Given the description of an element on the screen output the (x, y) to click on. 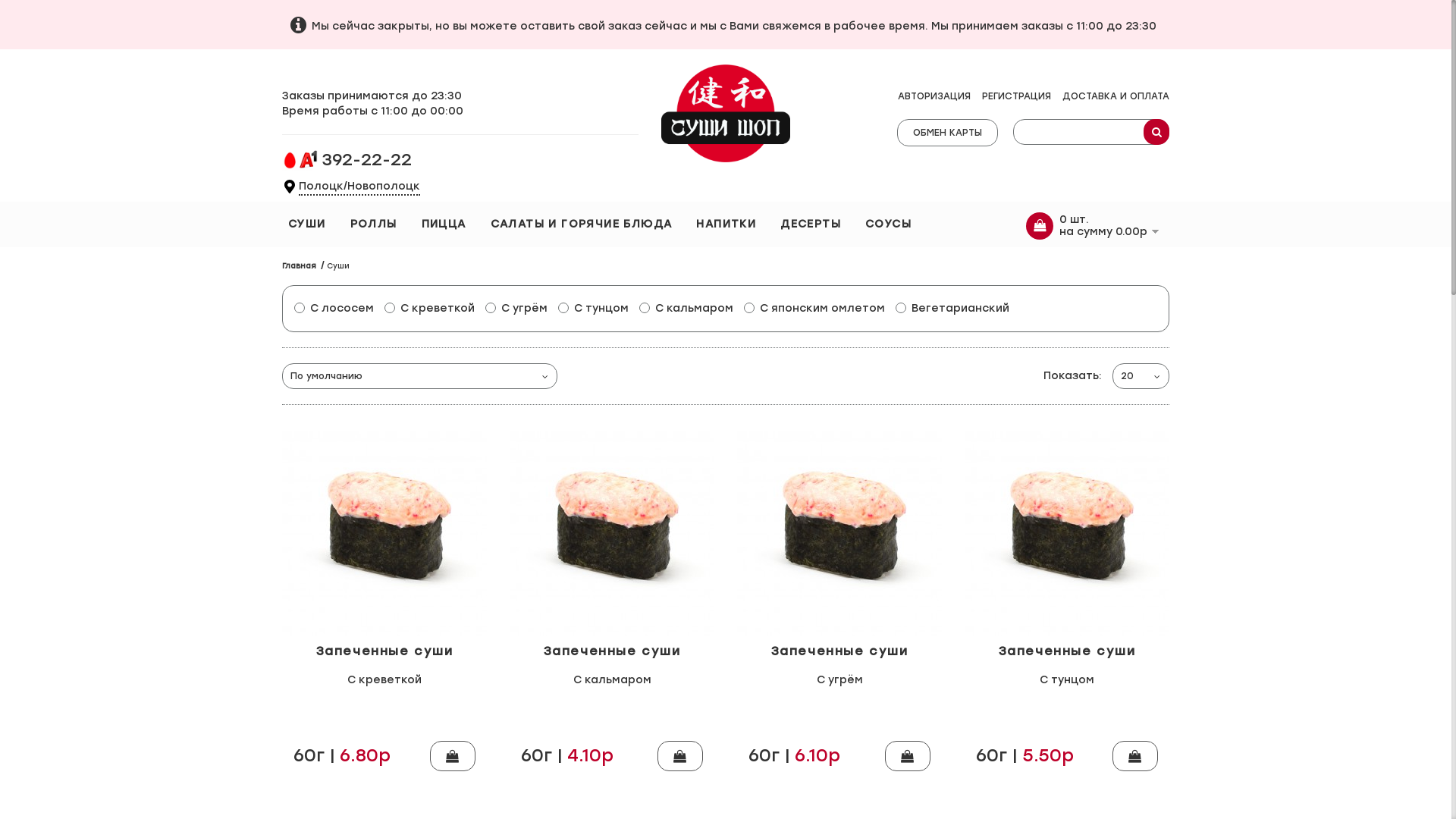
20 Element type: text (1129, 376)
392-22-22 Element type: text (366, 165)
